Given the description of an element on the screen output the (x, y) to click on. 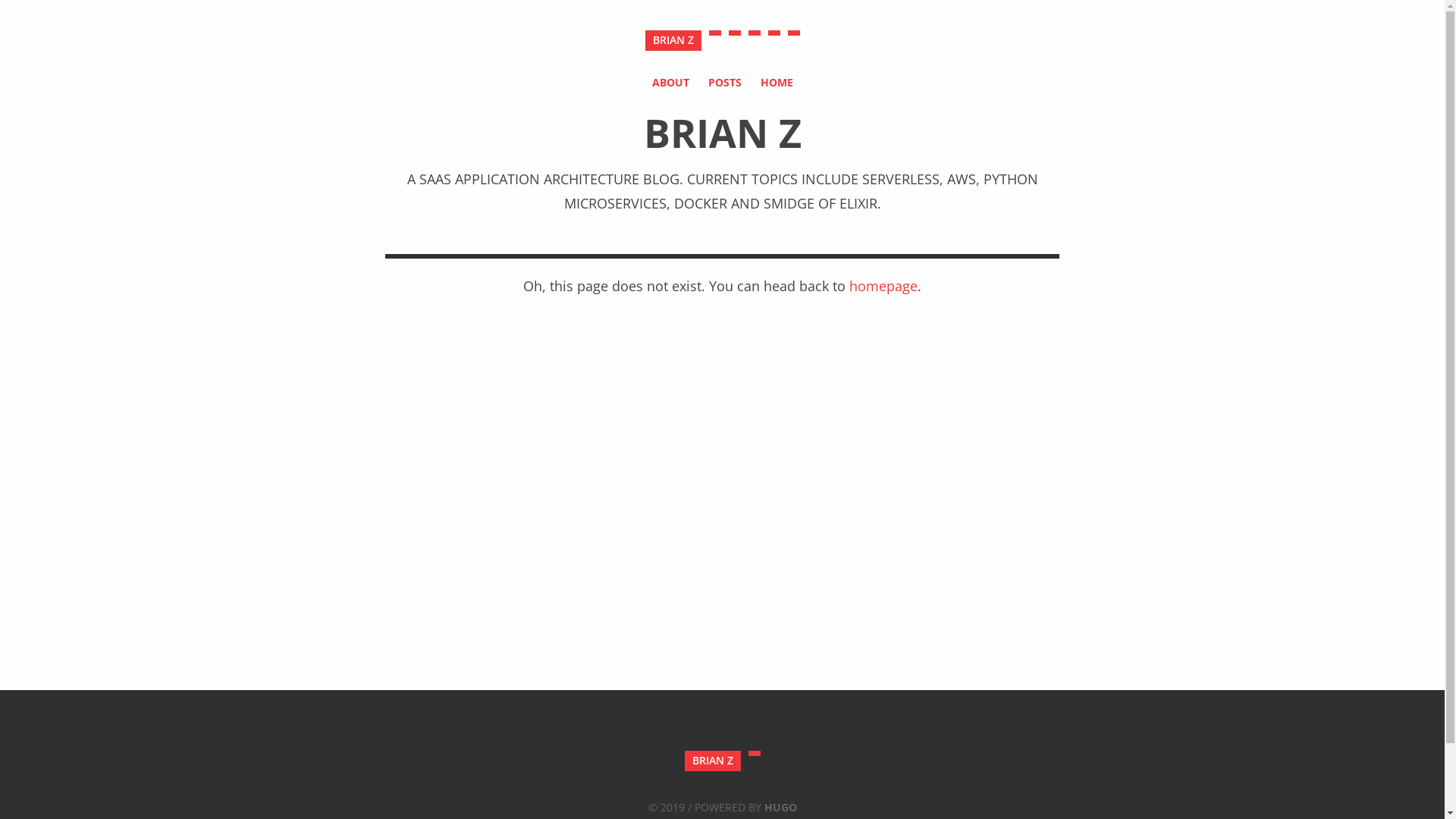
ABOUT Element type: text (670, 82)
BRIAN Z Element type: text (672, 40)
HOME Element type: text (775, 82)
Stack Overflow Element type: hover (773, 32)
POSTS Element type: text (724, 82)
LinkedIn Element type: hover (793, 32)
Github Element type: hover (753, 32)
Twitter Element type: hover (734, 32)
BRIAN Z Element type: text (712, 760)
homepage Element type: text (883, 285)
HUGO Element type: text (780, 807)
